Given the description of an element on the screen output the (x, y) to click on. 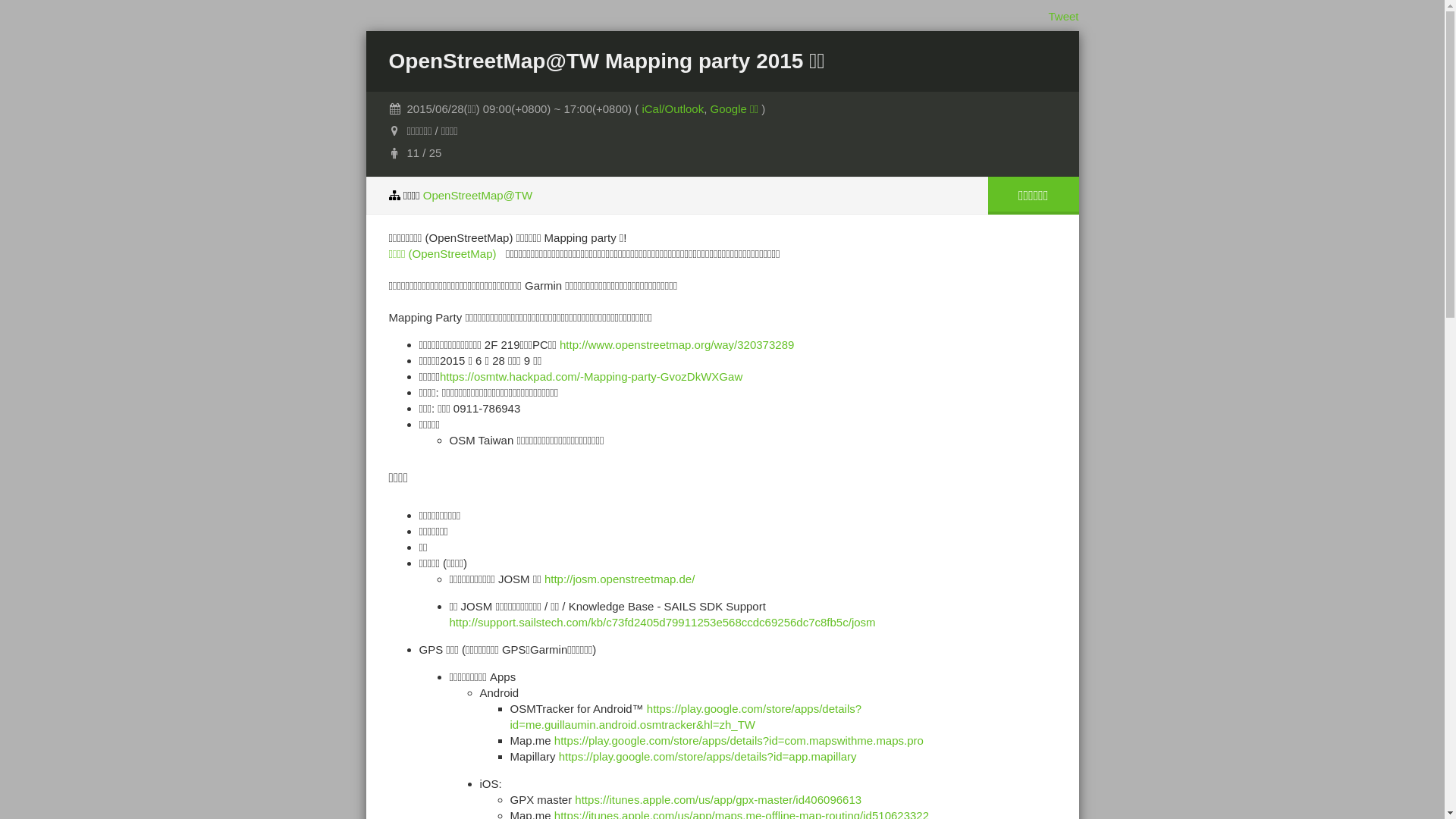
https://play.google.com/store/apps/details?id=app.mapillary Element type: text (707, 755)
OpenStreetMap@TW Element type: text (477, 194)
Tweet Element type: text (1063, 15)
iCal/Outlook Element type: text (672, 108)
https://osmtw.hackpad.com/-Mapping-party-GvozDkWXGaw Element type: text (590, 376)
http://josm.openstreetmap.de/ Element type: text (619, 578)
http://www.openstreetmap.org/way/320373289 Element type: text (676, 344)
https://itunes.apple.com/us/app/gpx-master/id406096613 Element type: text (717, 799)
